Given the description of an element on the screen output the (x, y) to click on. 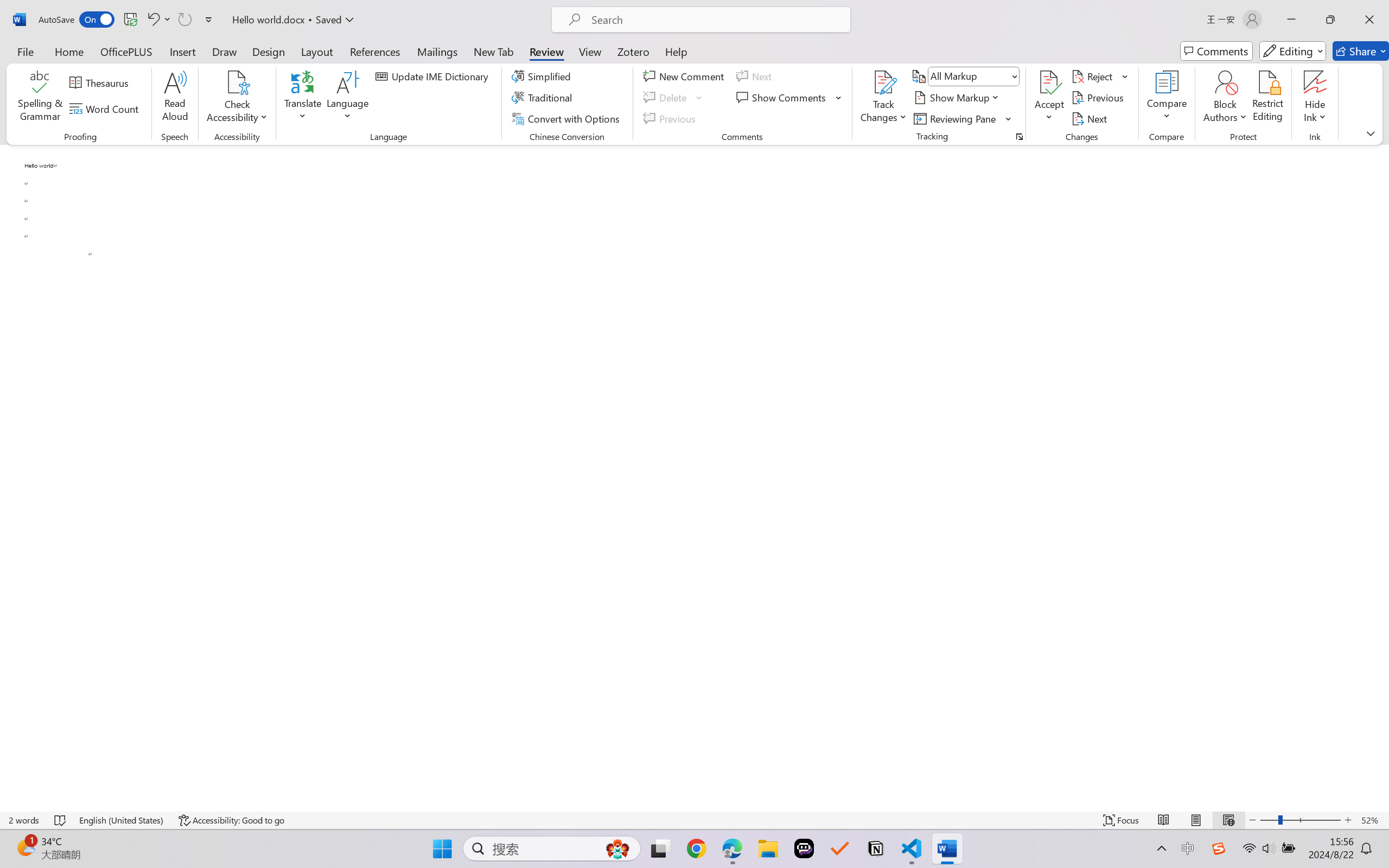
Update IME Dictionary... (433, 75)
Word Count 2 words (23, 819)
Reviewing Pane (955, 118)
Zoom 52% (1372, 819)
Block Authors (1224, 81)
Reject (1100, 75)
Zotero (632, 51)
Spelling and Grammar Check No Errors (60, 819)
Show Comments (782, 97)
Check Accessibility (237, 81)
Ribbon Display Options (1370, 132)
Show Markup (957, 97)
Convert with Options... (567, 118)
